Given the description of an element on the screen output the (x, y) to click on. 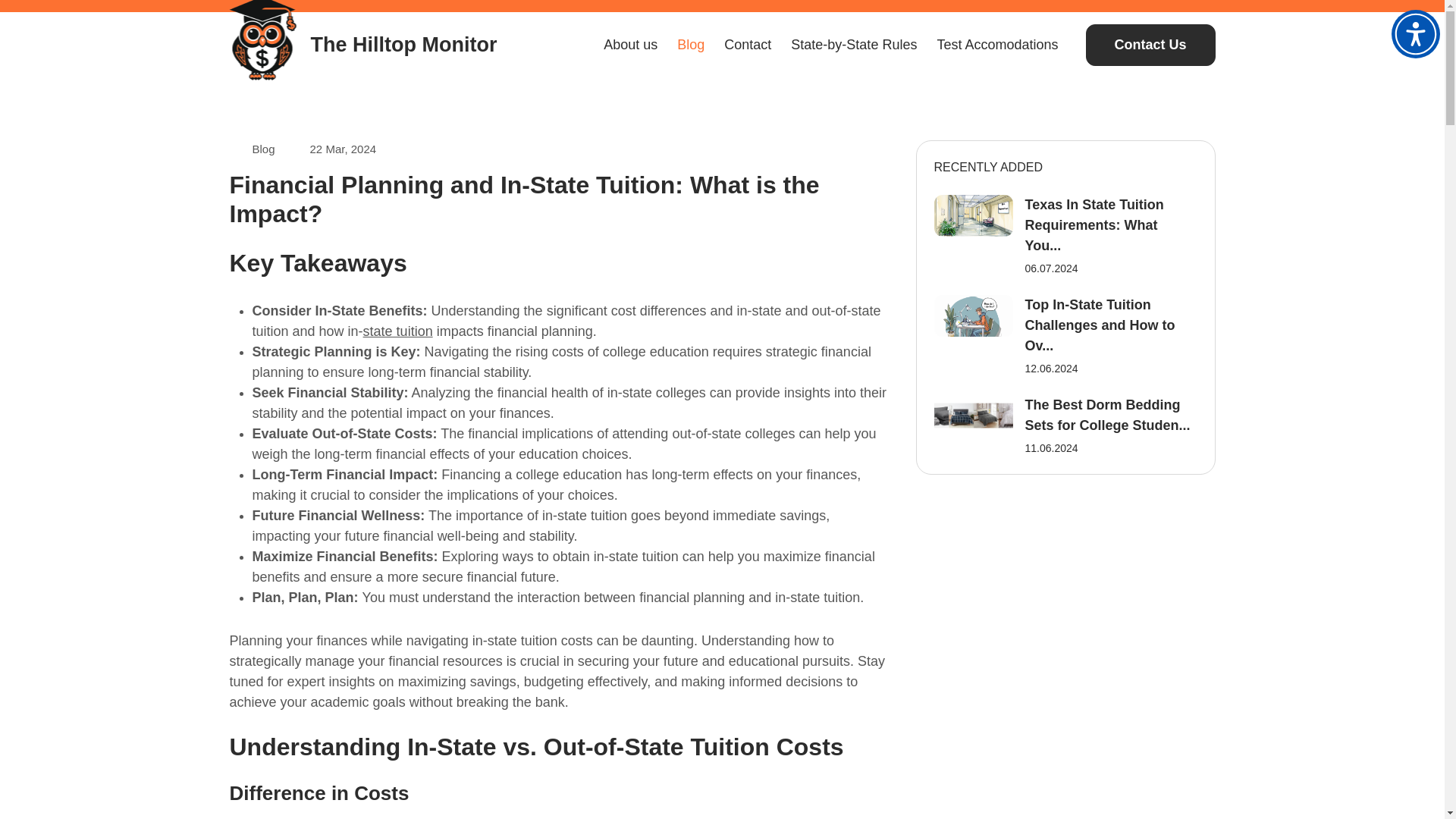
Contact Us (1150, 45)
state tuition (397, 331)
The Best Dorm Bedding Sets for College Studen... (1108, 415)
Test Accomodations (996, 44)
State-by-State Rules (853, 44)
Blog (263, 148)
Blog (690, 44)
About us (630, 44)
Top In-State Tuition Challenges and How to Ov... (1099, 324)
The Hilltop Monitor (362, 44)
Contact (747, 44)
Texas In State Tuition Requirements: What You... (1094, 225)
Accessibility Menu (1415, 33)
